Given the description of an element on the screen output the (x, y) to click on. 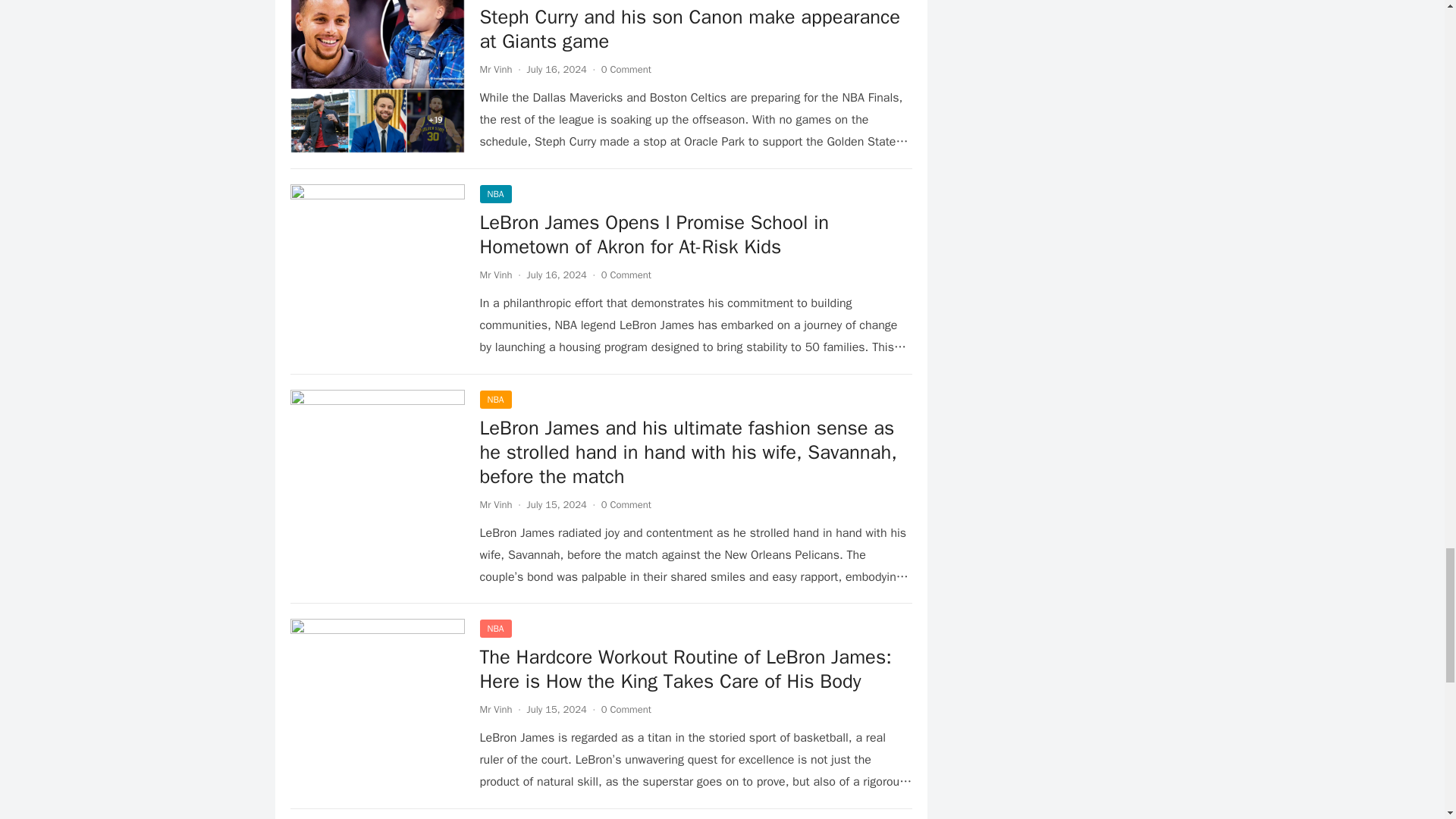
Mr Vinh (495, 274)
0 Comment (625, 708)
Posts by Mr Vinh (495, 708)
Posts by Mr Vinh (495, 504)
0 Comment (625, 504)
Posts by Mr Vinh (495, 69)
0 Comment (625, 69)
Posts by Mr Vinh (495, 274)
